Given the description of an element on the screen output the (x, y) to click on. 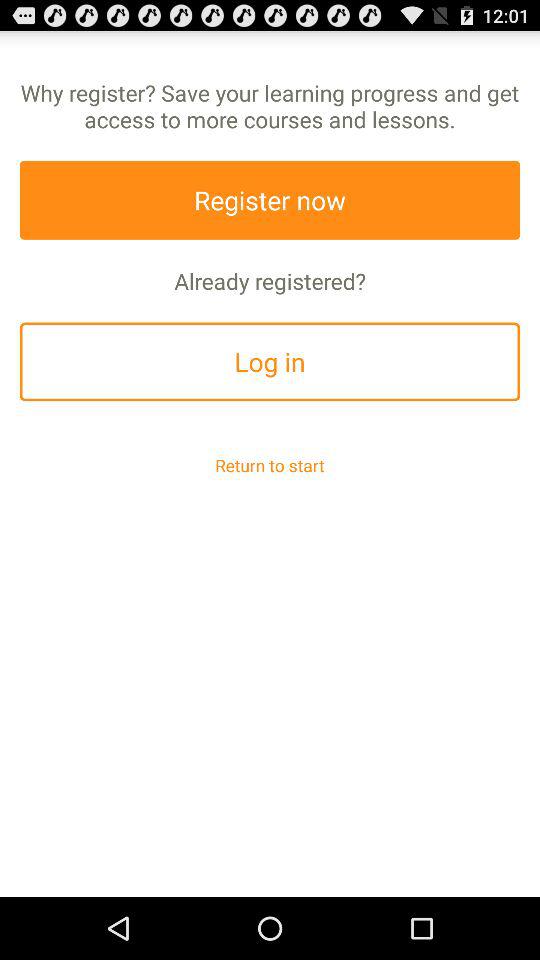
choose return to start app (269, 464)
